Given the description of an element on the screen output the (x, y) to click on. 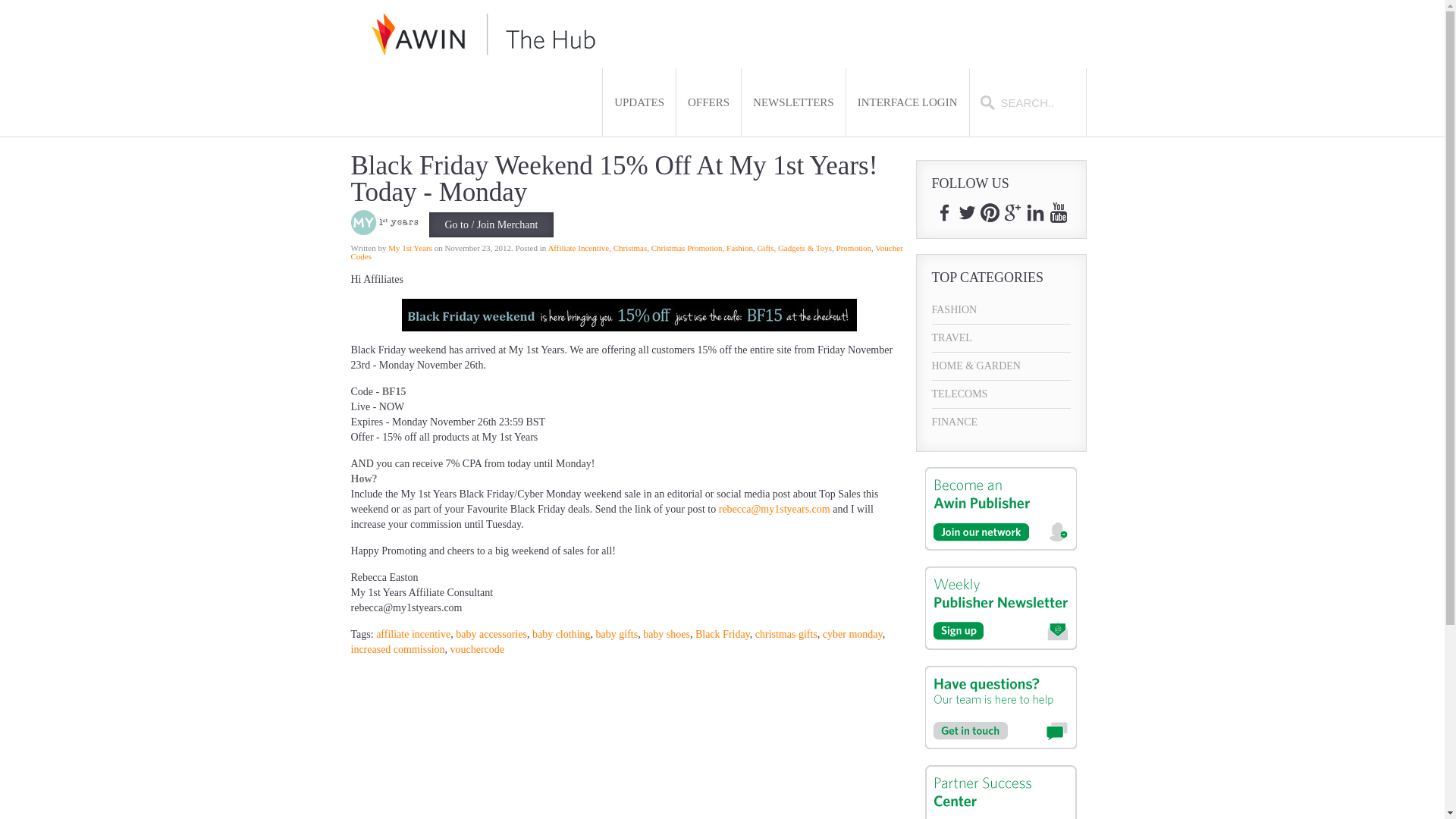
increased commission (397, 649)
baby shoes (666, 633)
INTERFACE LOGIN (907, 102)
christmas gifts (785, 633)
NEWSLETTERS (793, 102)
Reset (3, 2)
Affiliate Incentive (577, 247)
baby clothing (561, 633)
Interface Login (907, 102)
OFFERS (708, 102)
